Given the description of an element on the screen output the (x, y) to click on. 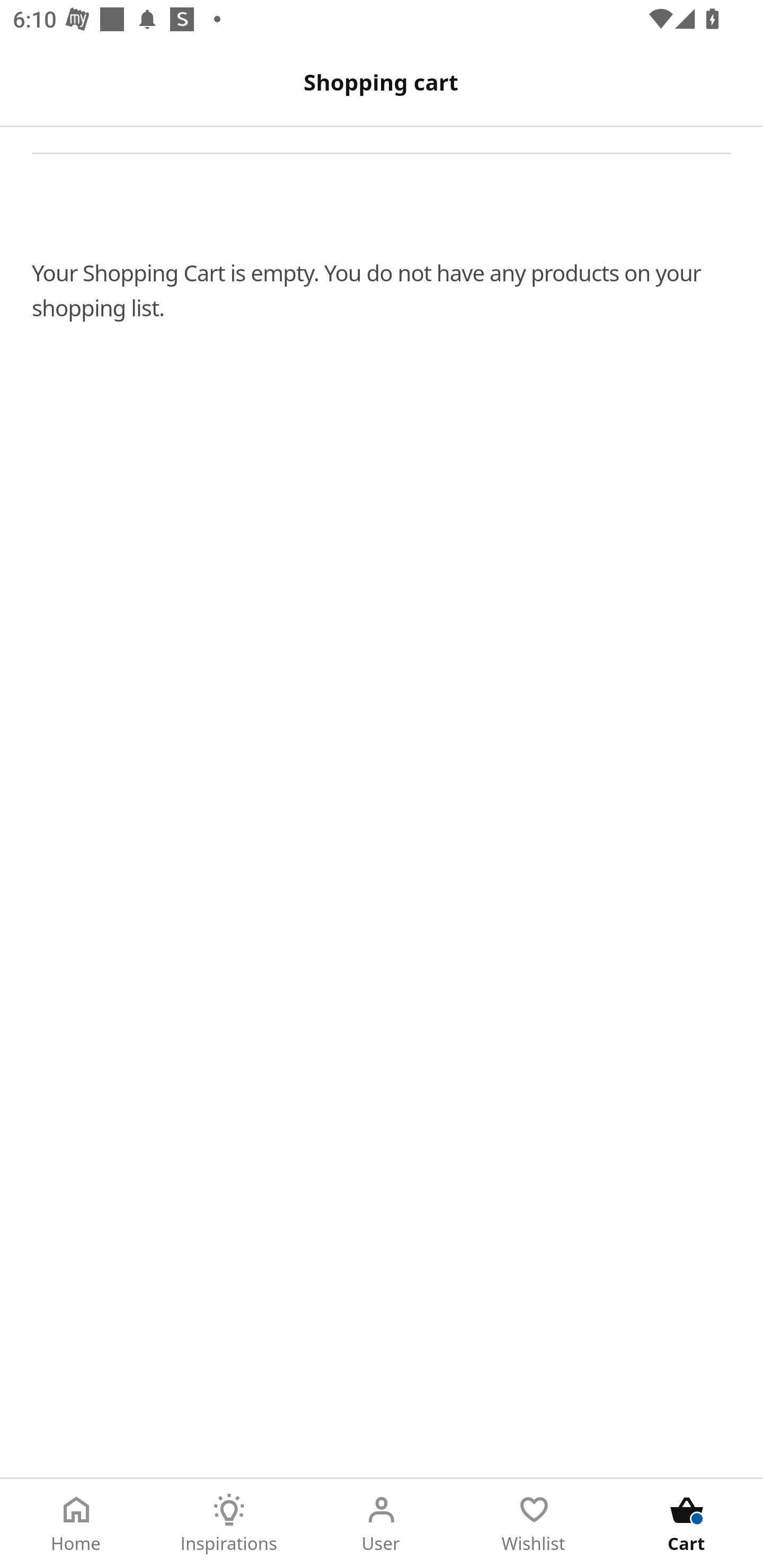
Home
Tab 1 of 5 (76, 1522)
Inspirations
Tab 2 of 5 (228, 1522)
User
Tab 3 of 5 (381, 1522)
Wishlist
Tab 4 of 5 (533, 1522)
Cart
Tab 5 of 5 (686, 1522)
